Given the description of an element on the screen output the (x, y) to click on. 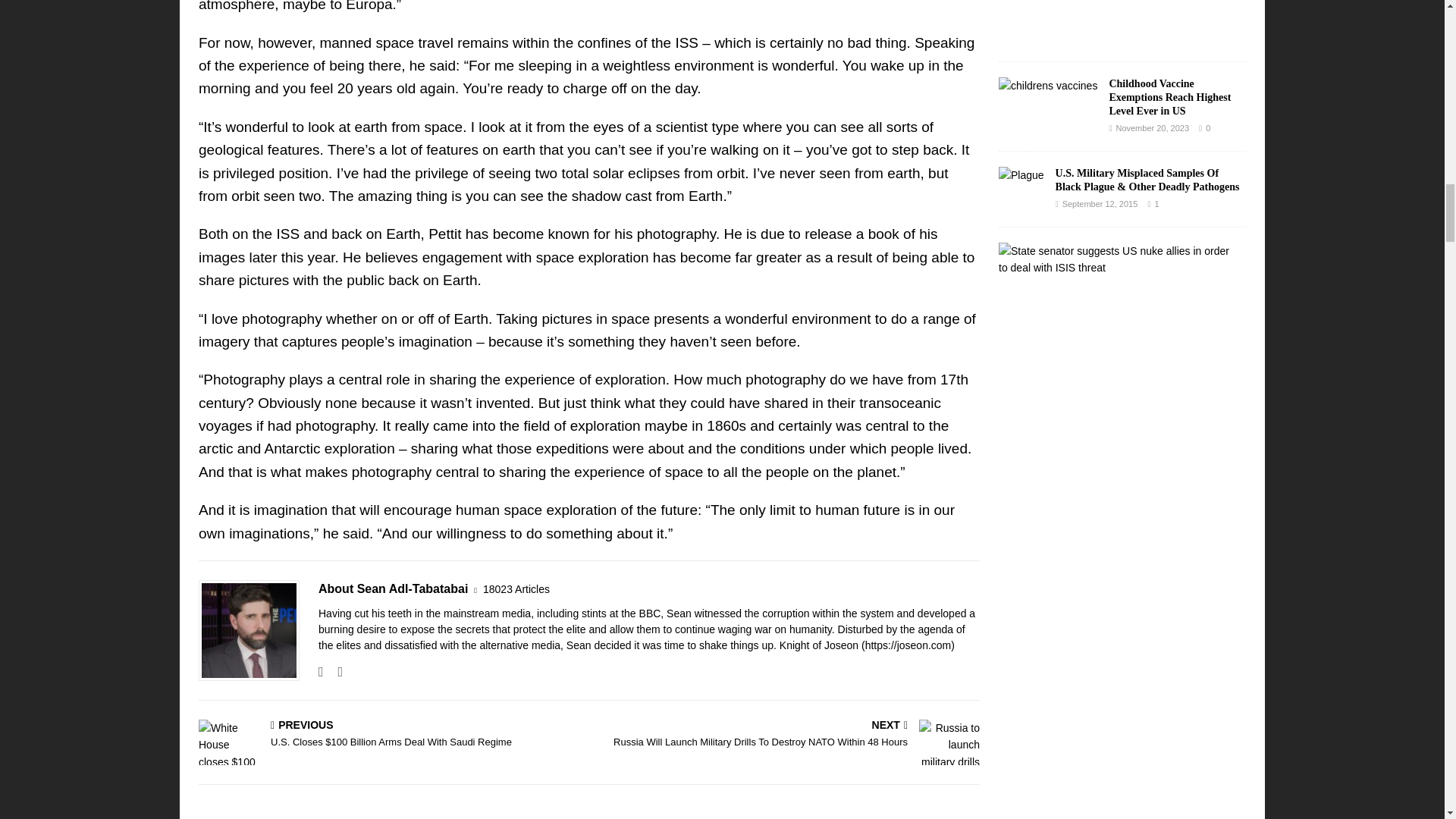
Follow Sean Adl-Tabatabai on Twitter (334, 671)
More articles written by Sean Adl-Tabatabai' (516, 589)
